Given the description of an element on the screen output the (x, y) to click on. 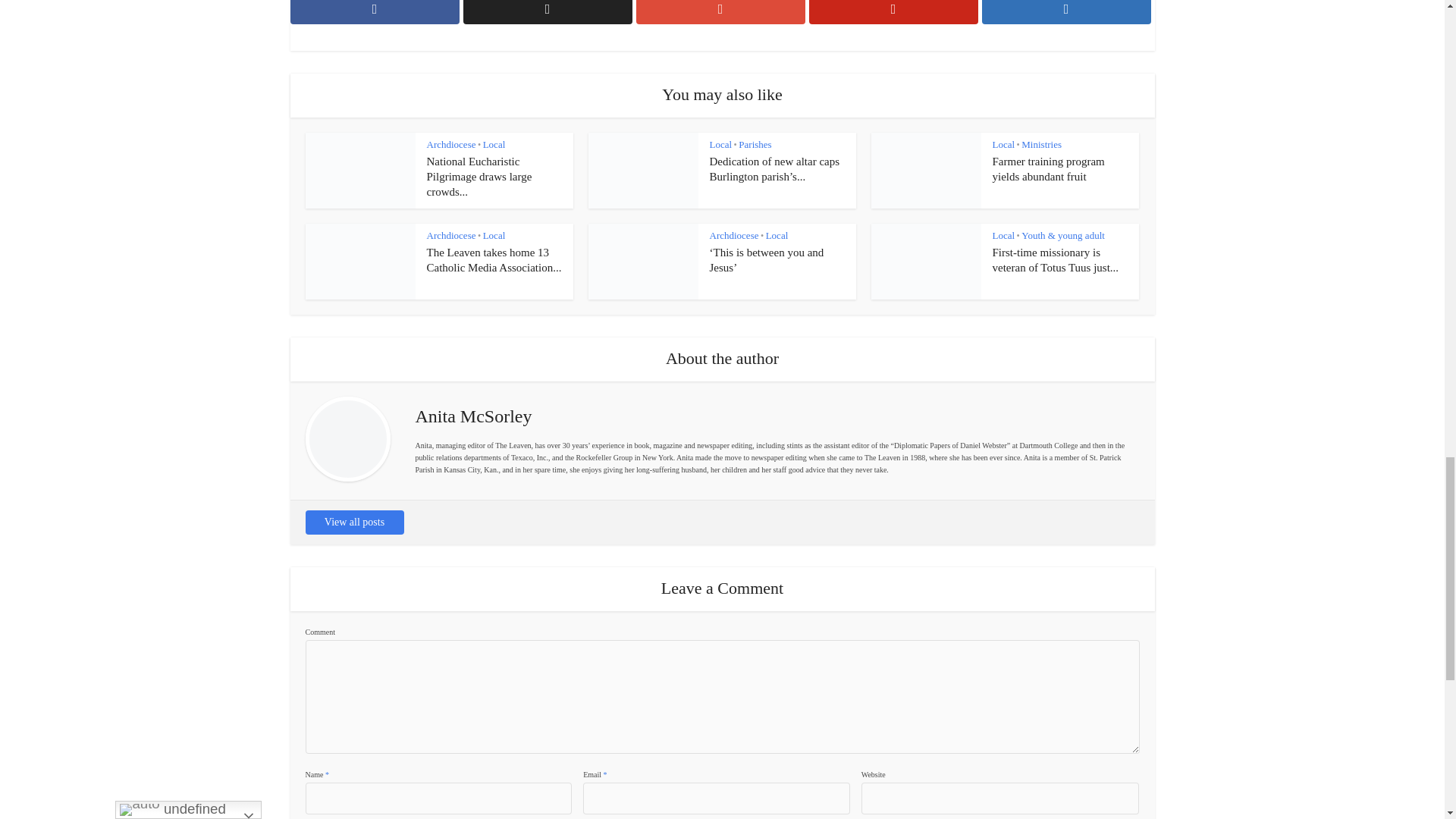
The Leaven takes home 13 Catholic Media Association awards (493, 259)
Farmer training program yields abundant fruit (1047, 168)
